Given the description of an element on the screen output the (x, y) to click on. 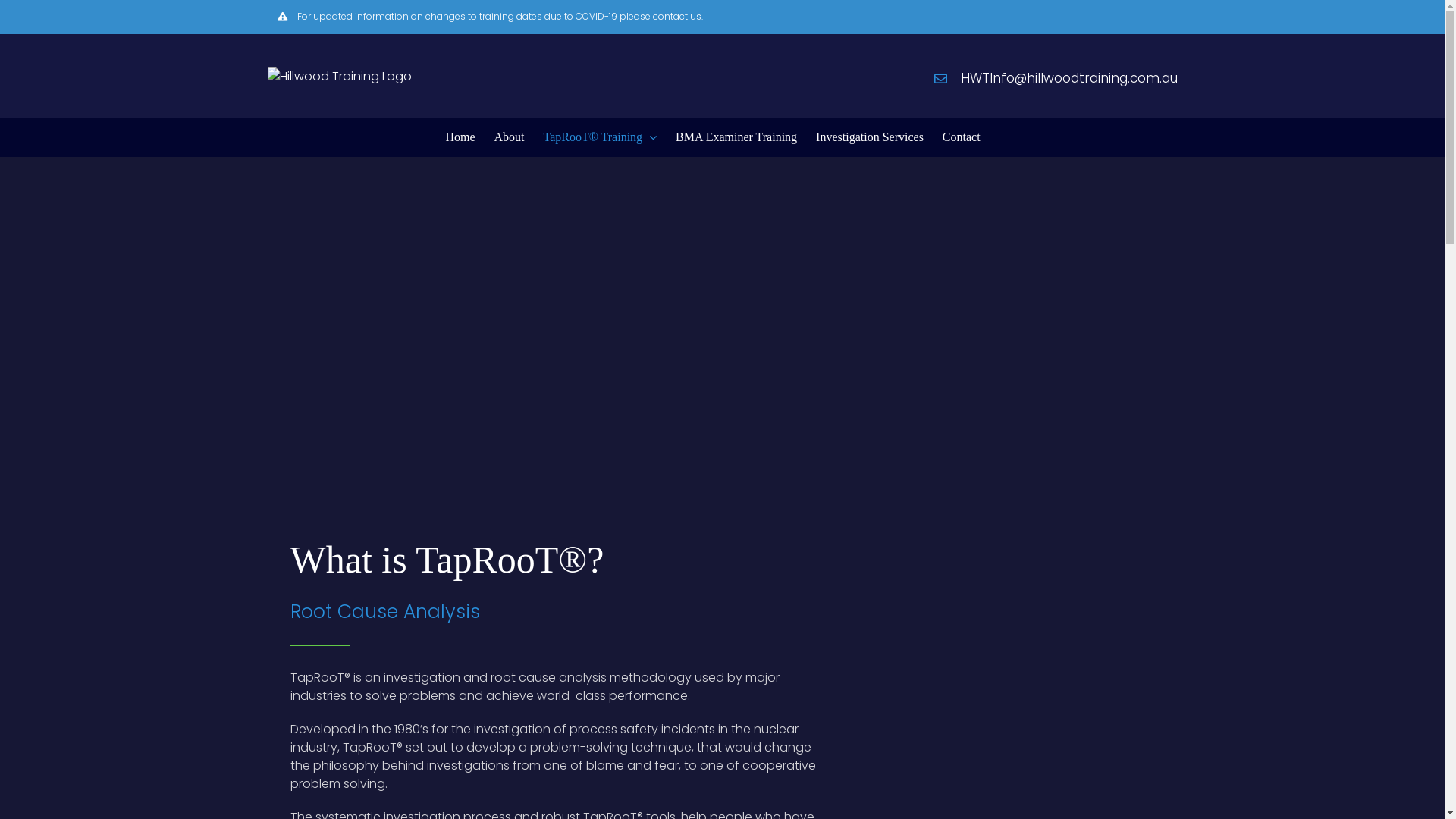
BMA Examiner Training Element type: text (736, 137)
Investigation Services Element type: text (869, 137)
Home Element type: text (459, 137)
About Element type: text (508, 137)
Contact Element type: text (961, 137)
HWTInfo@hillwoodtraining.com.au Element type: text (1068, 78)
